Given the description of an element on the screen output the (x, y) to click on. 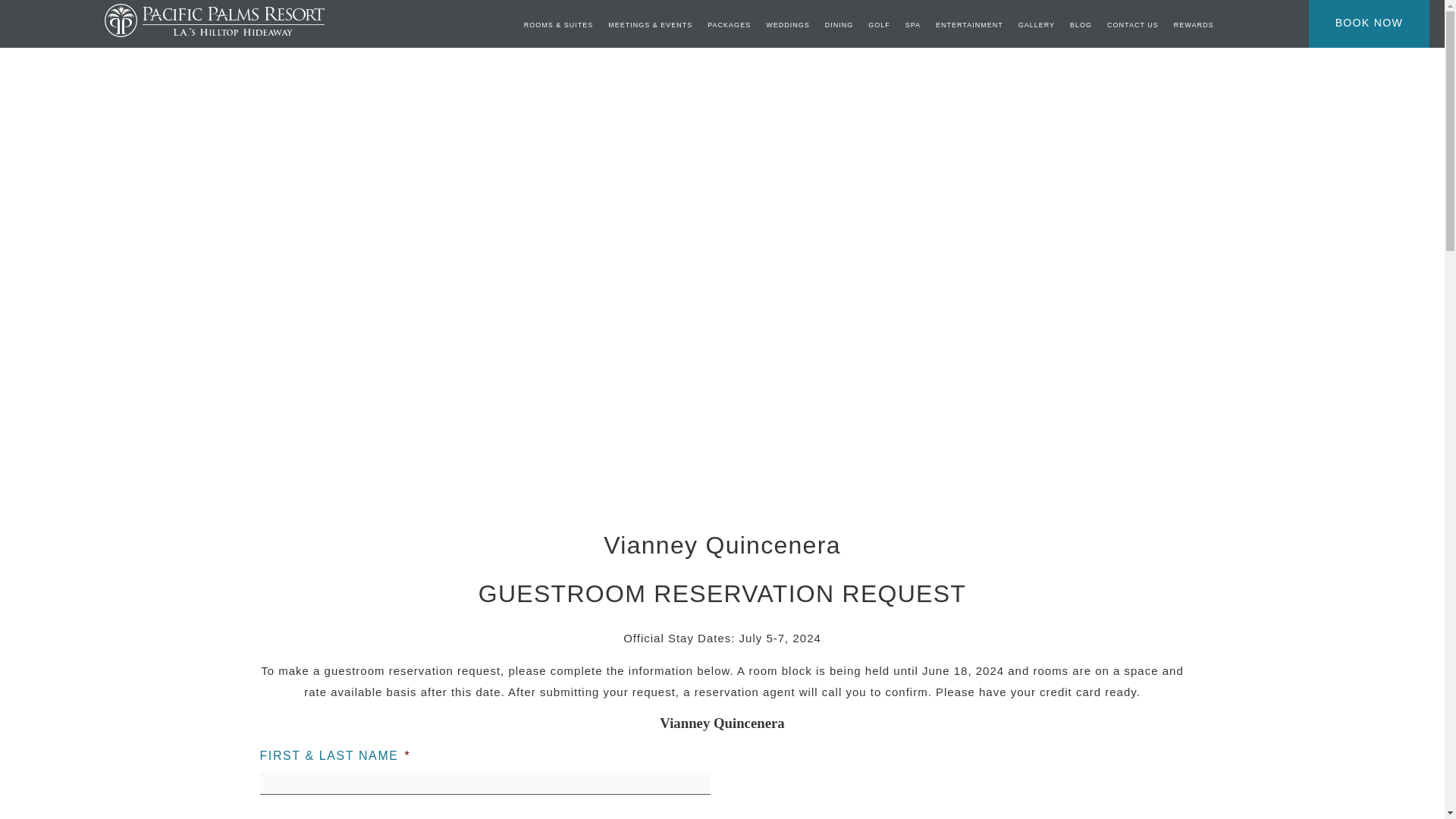
BOOK NOW (1369, 21)
SPA (912, 25)
GOLF (878, 25)
ENTERTAINMENT (969, 25)
CONTACT US (1132, 25)
BOOK NOW (1369, 22)
WEDDINGS (787, 25)
DINING (839, 25)
BLOG (1081, 25)
GALLERY (1035, 25)
PACKAGES (729, 25)
REWARDS (1193, 25)
